Given the description of an element on the screen output the (x, y) to click on. 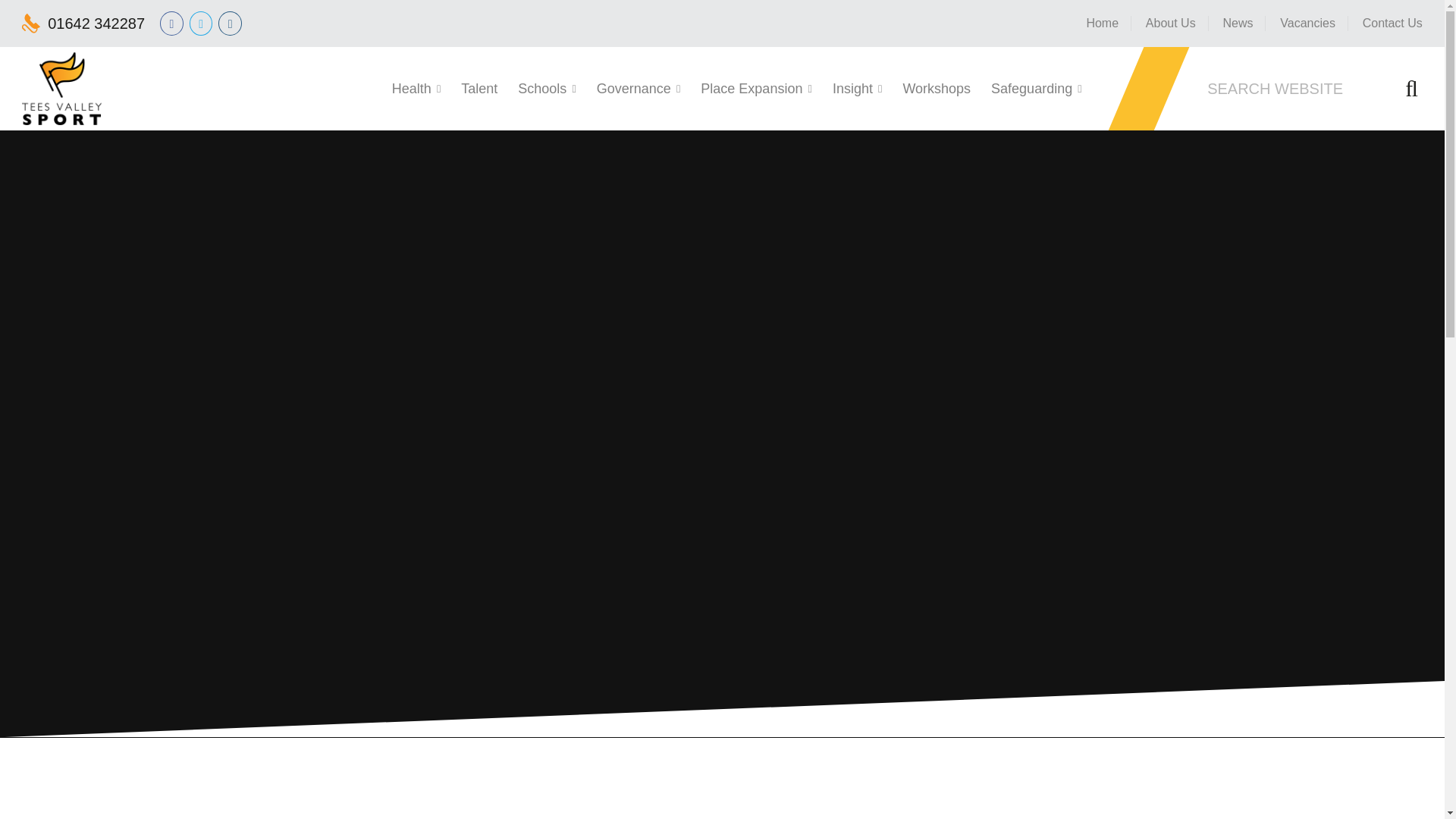
Contact Us (1386, 22)
Health (410, 88)
Place Expansion (751, 88)
Talent (479, 88)
News (1237, 22)
Governance (633, 88)
Insight (852, 88)
Vacancies (1308, 22)
About Us (1171, 22)
Home (1102, 22)
